Given the description of an element on the screen output the (x, y) to click on. 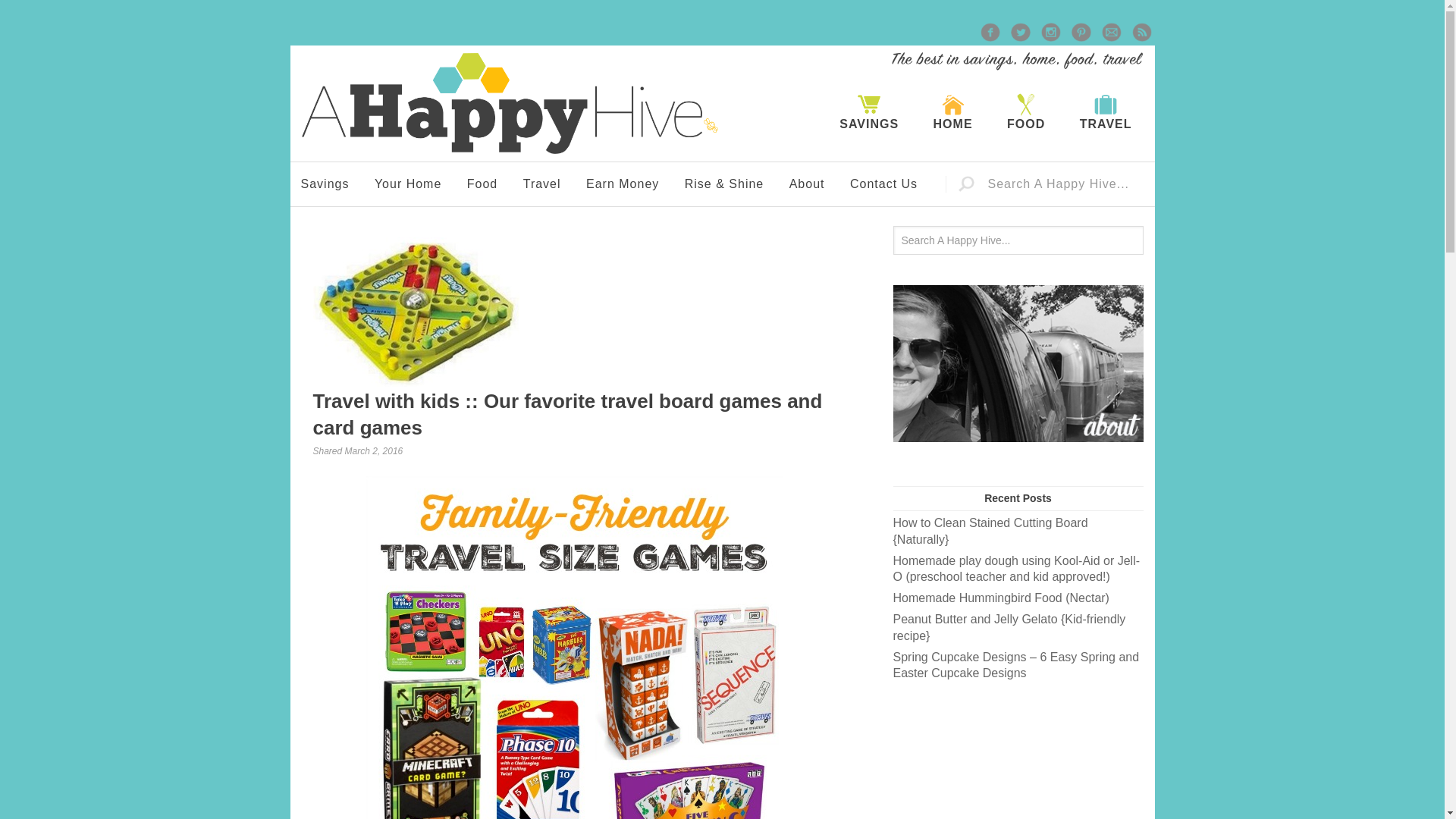
Earn Money (622, 184)
HOME (953, 112)
Your Home (407, 184)
About (806, 184)
Food (482, 184)
FOOD (1025, 112)
TRAVEL (1105, 112)
Savings (324, 184)
A HAPPY HIVE (510, 103)
SAVINGS (869, 112)
Contact Us (884, 184)
Travel (542, 184)
